Given the description of an element on the screen output the (x, y) to click on. 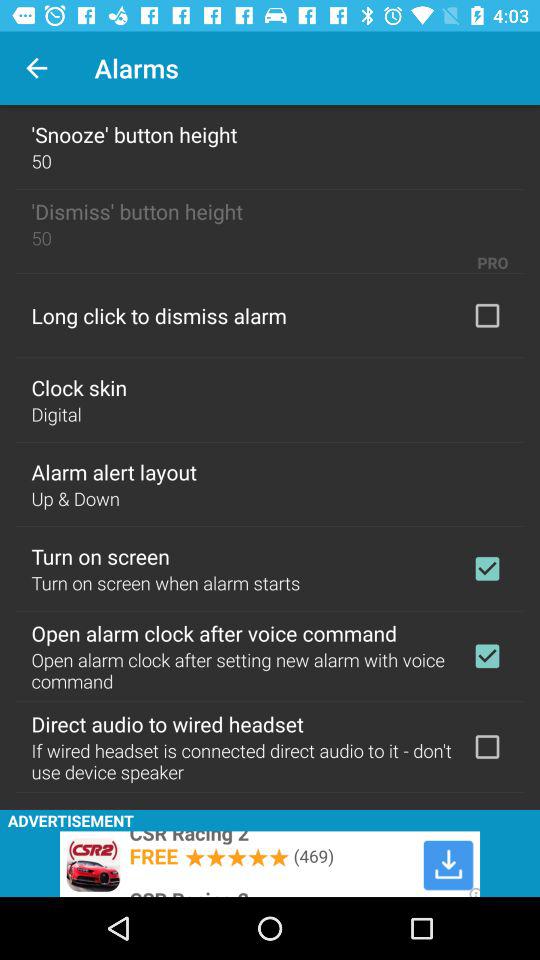
advertisement (270, 864)
